Given the description of an element on the screen output the (x, y) to click on. 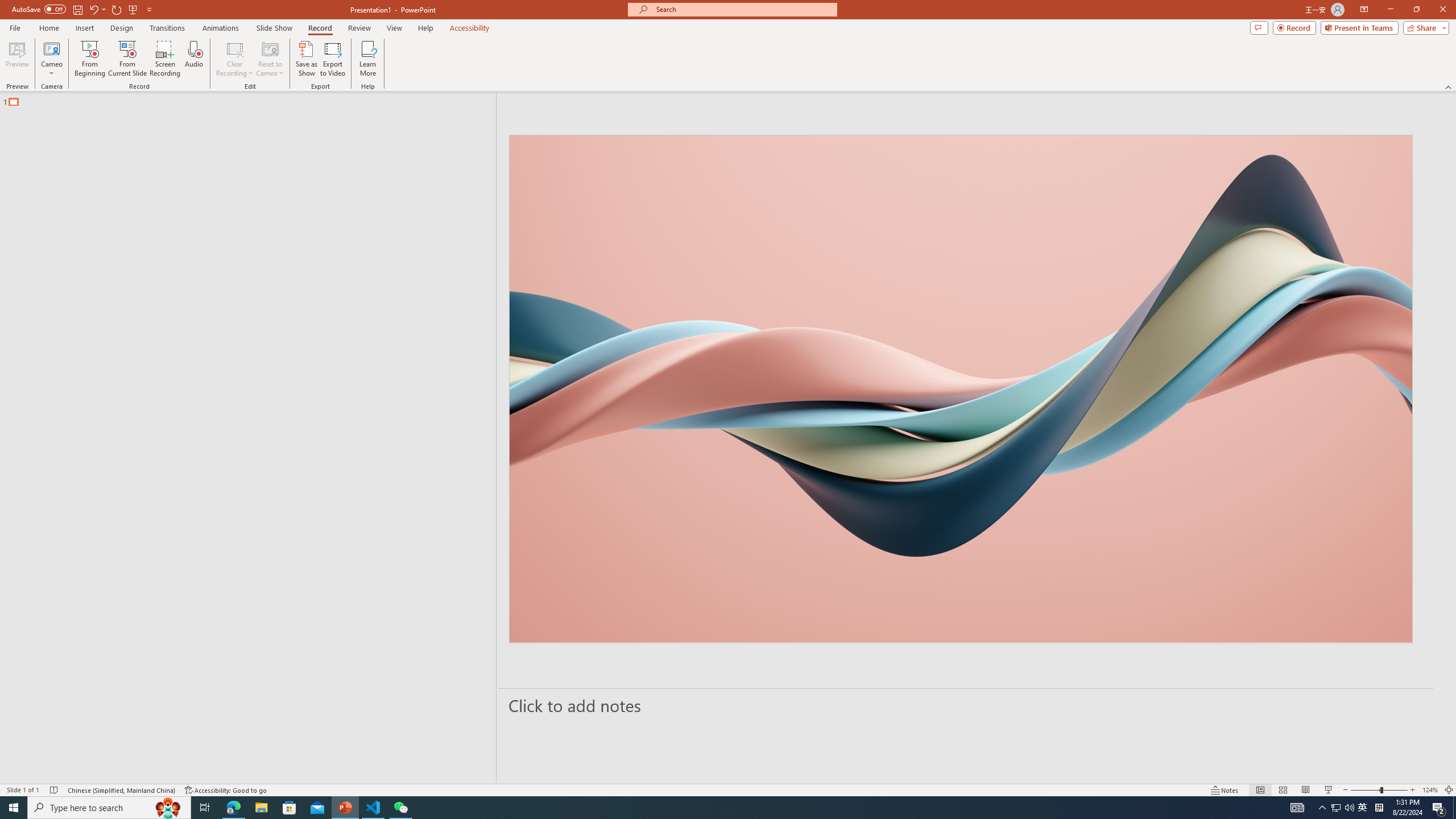
From Beginning... (89, 58)
